Given the description of an element on the screen output the (x, y) to click on. 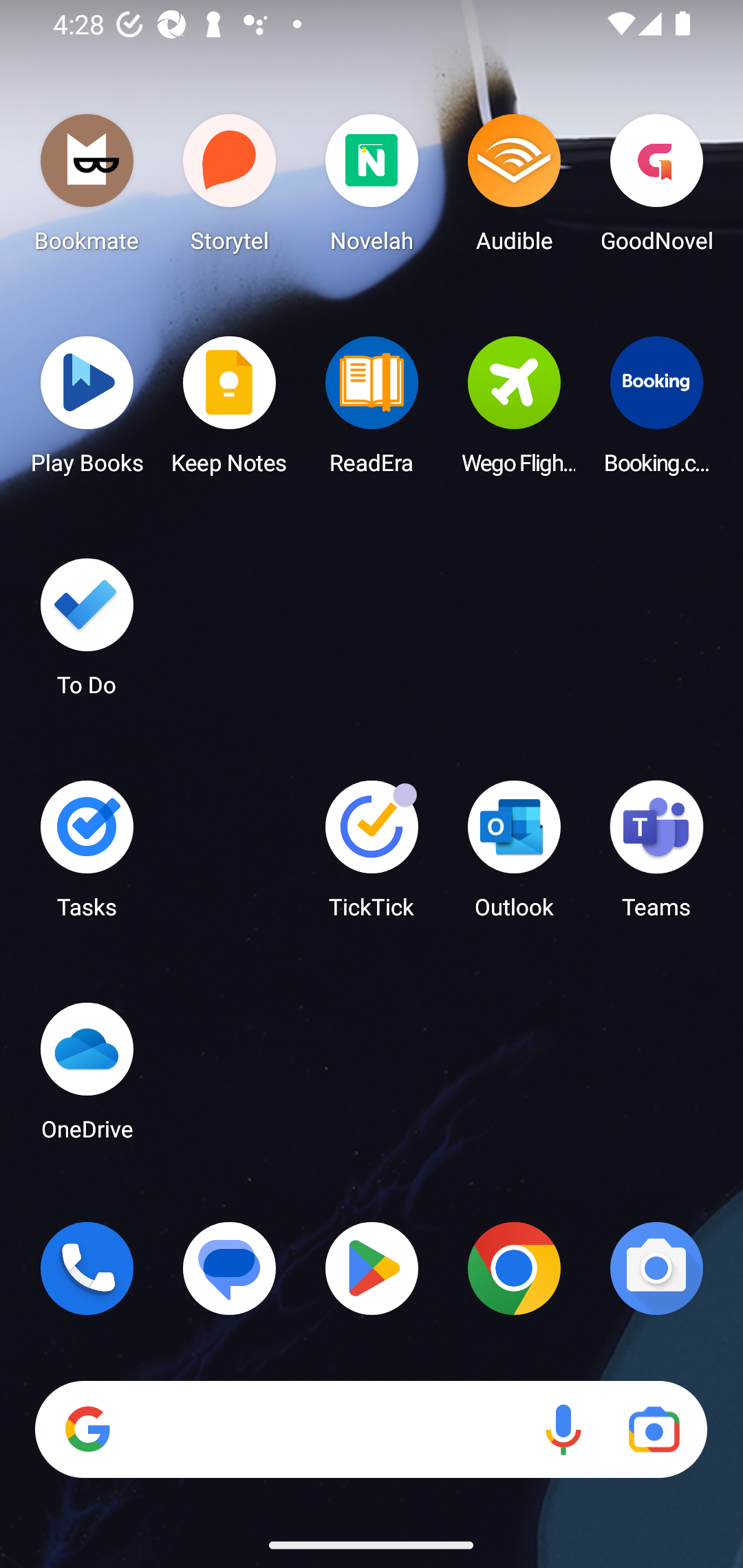
Bookmate (86, 188)
Storytel (229, 188)
Novelah (371, 188)
Audible (513, 188)
GoodNovel (656, 188)
Play Books (86, 410)
Keep Notes (229, 410)
ReadEra (371, 410)
Wego Flights & Hotels (513, 410)
Booking.com (656, 410)
To Do (86, 633)
Tasks (86, 854)
TickTick TickTick has 3 notifications (371, 854)
Outlook (513, 854)
Teams (656, 854)
OneDrive (86, 1076)
Phone (86, 1268)
Messages (229, 1268)
Play Store (371, 1268)
Chrome (513, 1268)
Camera (656, 1268)
Voice search (562, 1429)
Google Lens (653, 1429)
